Given the description of an element on the screen output the (x, y) to click on. 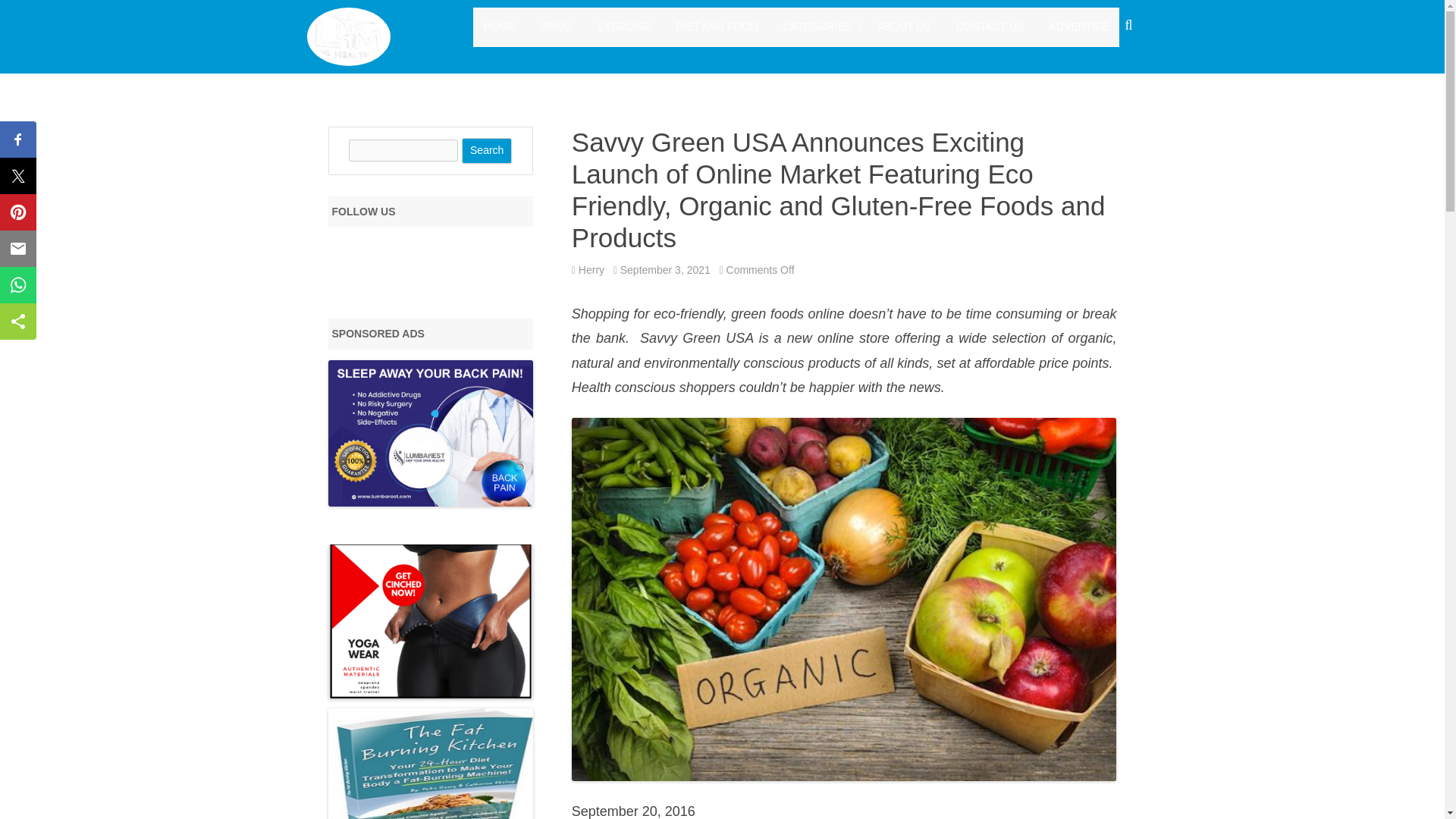
DIET AND FOOD (716, 26)
CATEGORIES (817, 26)
EXERCISE (623, 26)
SPA (858, 61)
Search (486, 150)
